Given the description of an element on the screen output the (x, y) to click on. 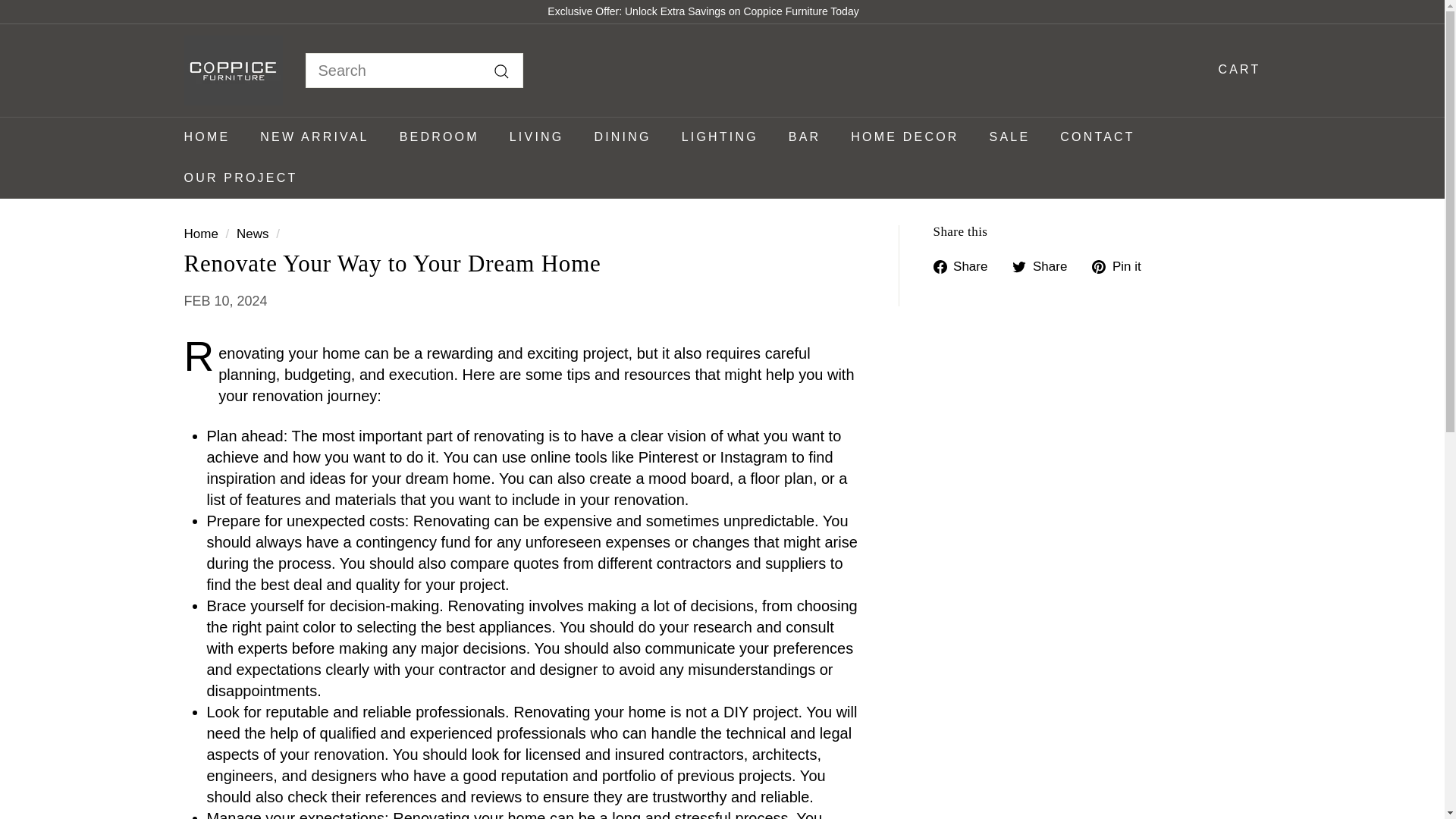
SALE (1009, 137)
Back to the frontpage (199, 233)
Facebook (1240, 11)
twitter (1018, 266)
 Coppice Furniture on Instagram (1233, 11)
Instagram (1233, 11)
Pin on Pinterest (1121, 265)
CART (1232, 69)
OUR PROJECT (240, 178)
